Given the description of an element on the screen output the (x, y) to click on. 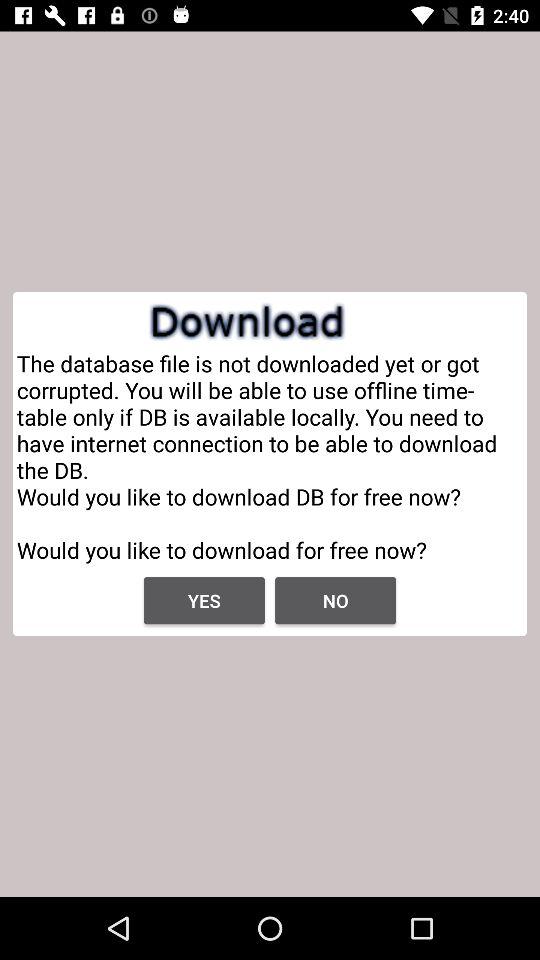
jump until the no (335, 600)
